Given the description of an element on the screen output the (x, y) to click on. 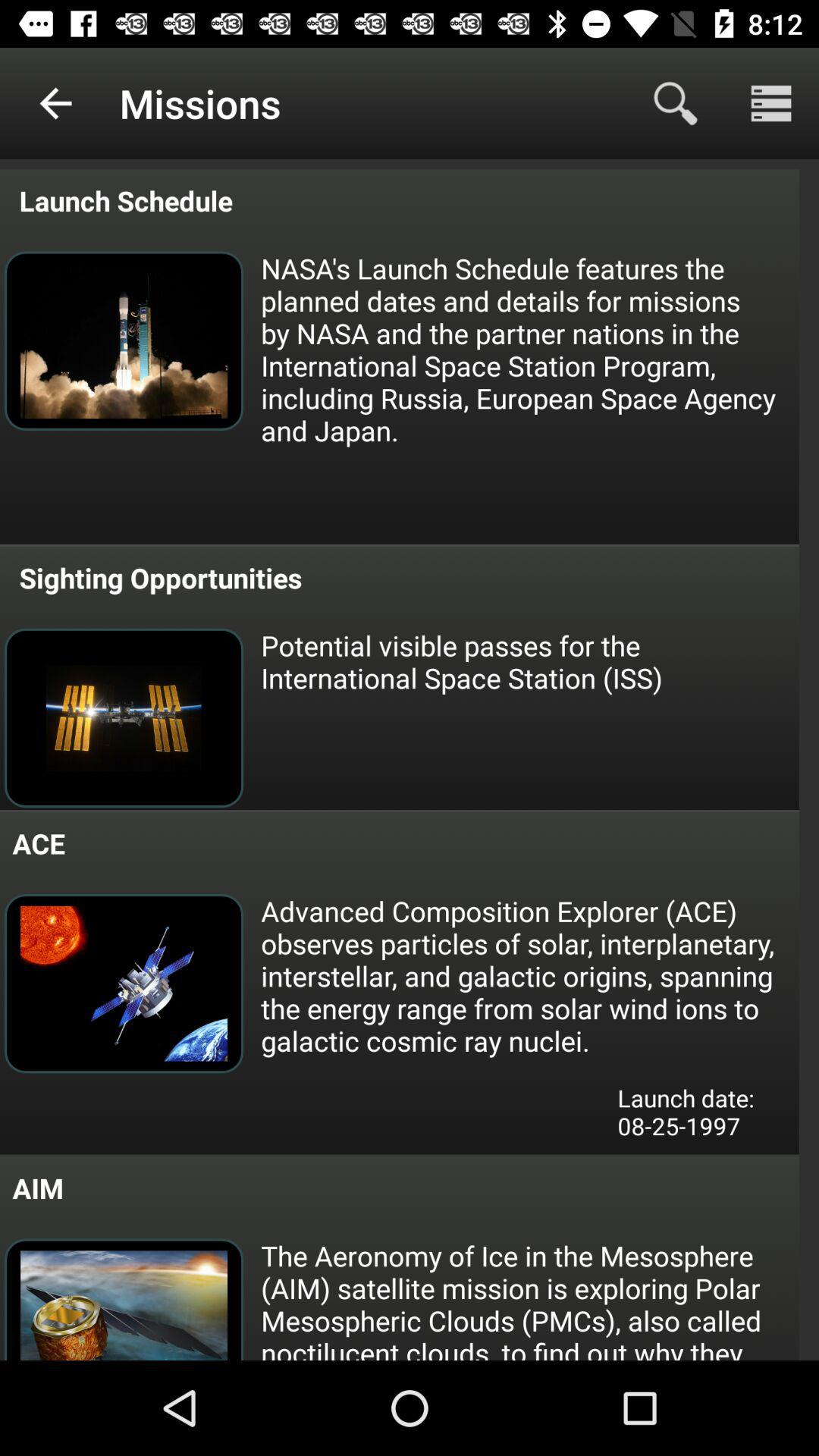
click icon below potential visible passes item (528, 975)
